Given the description of an element on the screen output the (x, y) to click on. 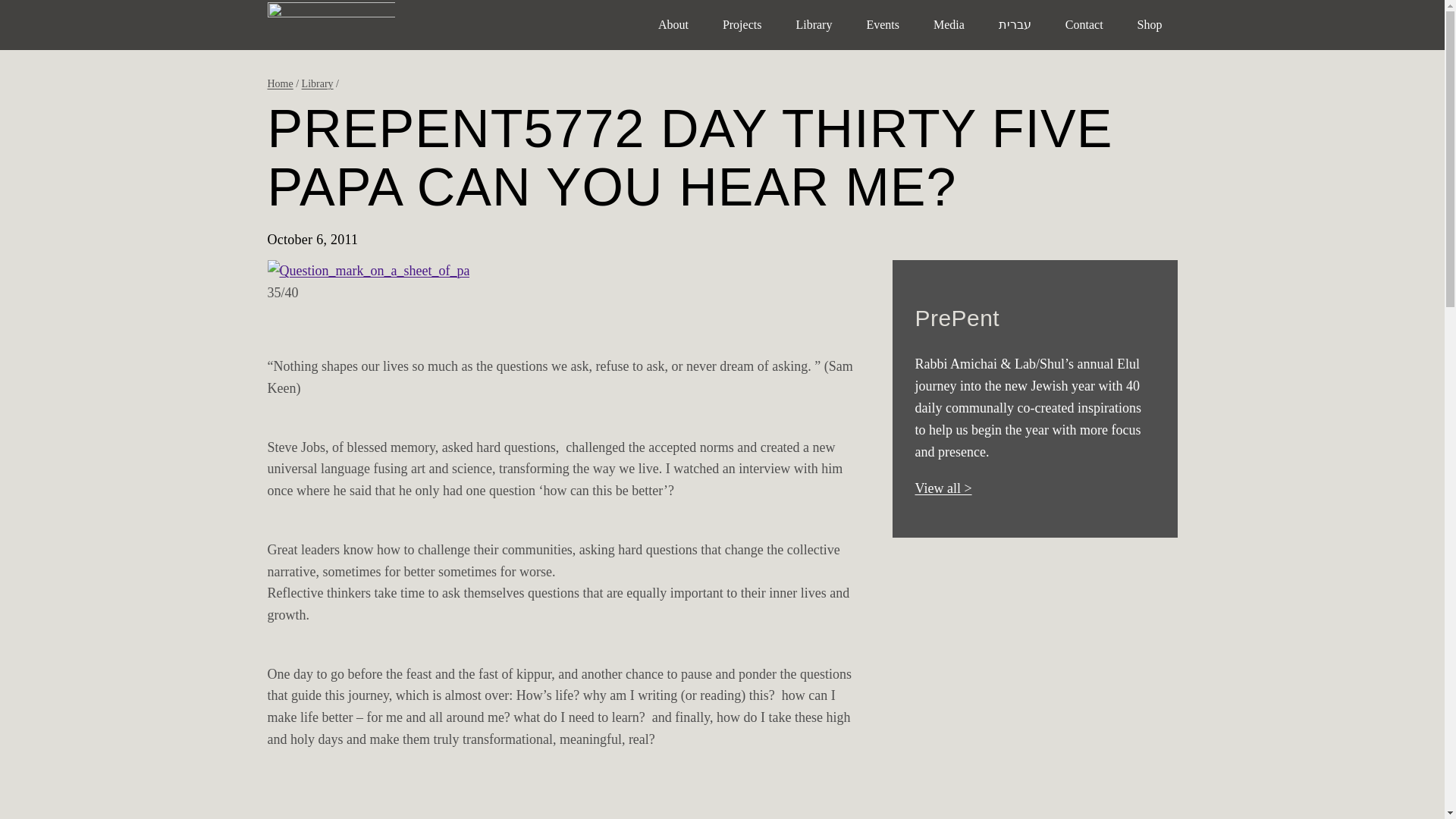
Media (948, 24)
Library (813, 24)
Library (317, 83)
Shop (1149, 24)
About (673, 24)
Events (882, 24)
Contact (1083, 24)
Home (279, 83)
Projects (742, 24)
